Given the description of an element on the screen output the (x, y) to click on. 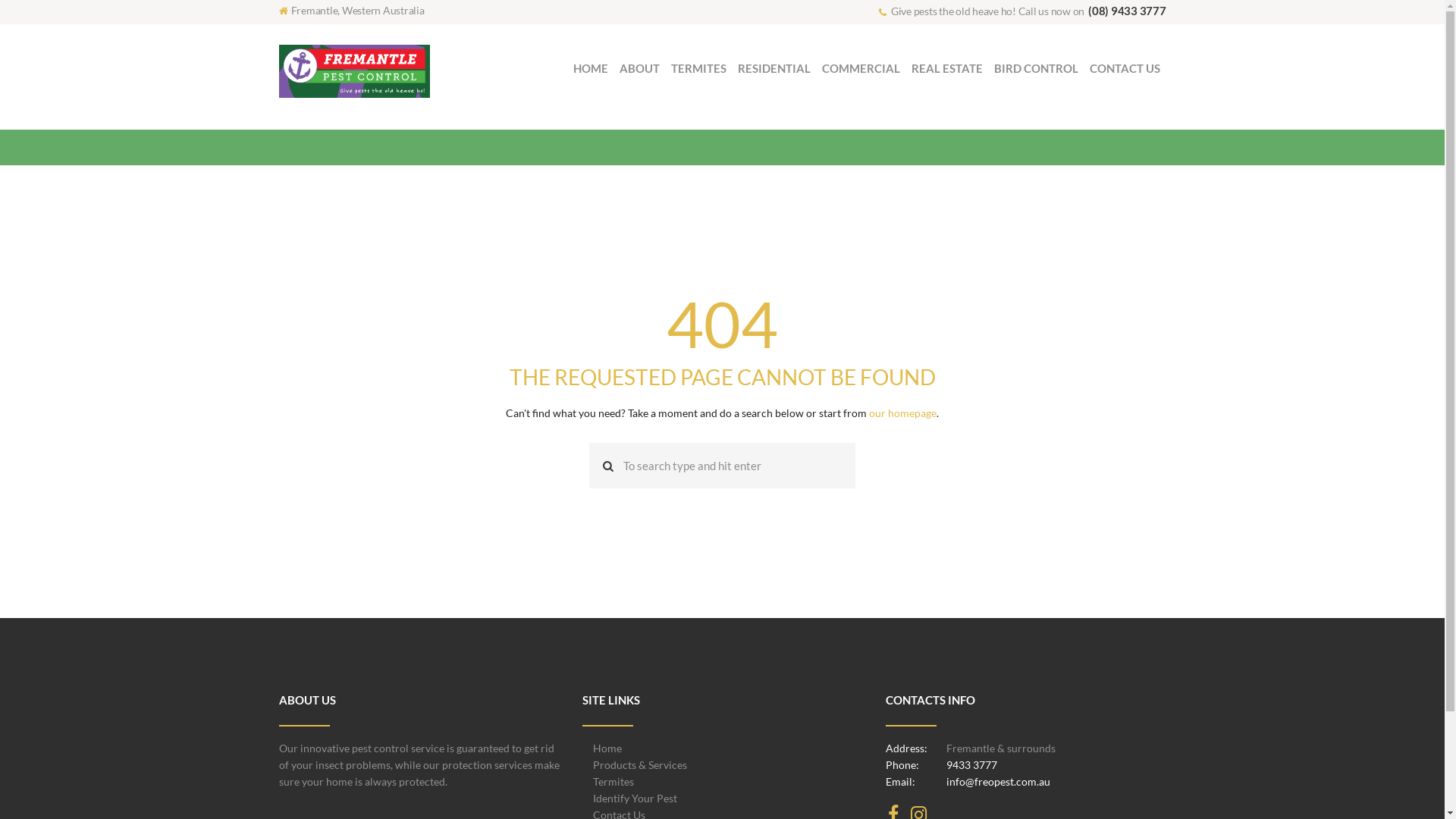
RESIDENTIAL Element type: text (774, 68)
Termites Element type: text (613, 781)
REAL ESTATE Element type: text (947, 68)
COMMERCIAL Element type: text (861, 68)
Start search Element type: hover (603, 465)
Products & Services Element type: text (640, 764)
Identify Your Pest Element type: text (635, 797)
(08) 9433 3777 Element type: text (1127, 10)
BIRD CONTROL Element type: text (1036, 68)
9433 3777 Element type: text (971, 764)
Home Element type: text (607, 747)
HOME Element type: text (590, 68)
CONTACT US Element type: text (1125, 68)
TERMITES Element type: text (698, 68)
ABOUT Element type: text (639, 68)
info@freopest.com.au Element type: text (998, 781)
our homepage Element type: text (902, 412)
